Given the description of an element on the screen output the (x, y) to click on. 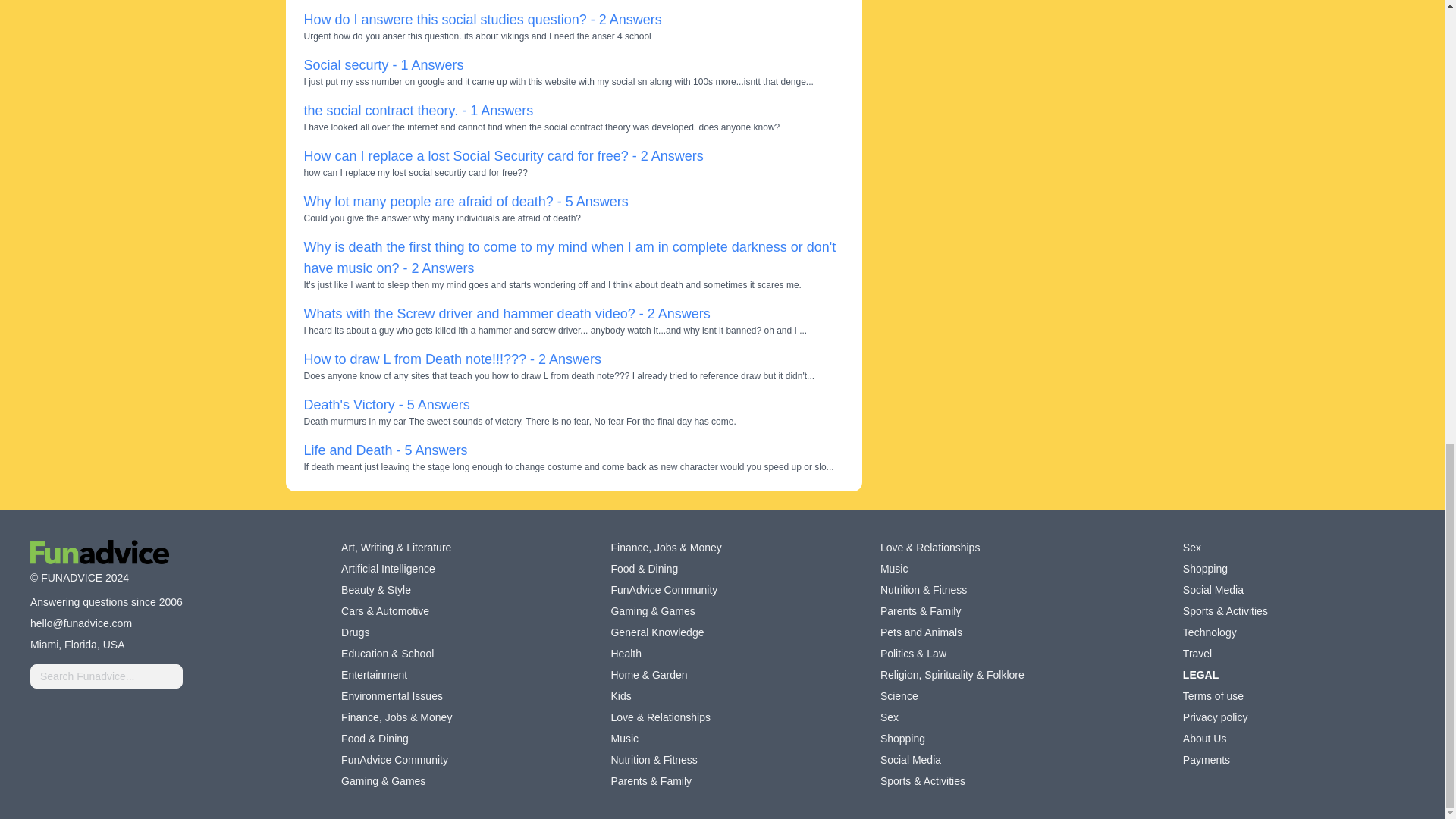
Why lot many people are afraid of death? - 5 Answers (464, 201)
Artificial Intelligence (387, 568)
Death's Victory - 5 Answers (385, 404)
How to draw L from Death note!!!??? - 2 Answers (451, 359)
How do I answere this social studies question? - 2 Answers (481, 19)
the social contract theory. - 1 Answers (417, 110)
Life and Death - 5 Answers (384, 450)
Social securty - 1 Answers (382, 64)
